Given the description of an element on the screen output the (x, y) to click on. 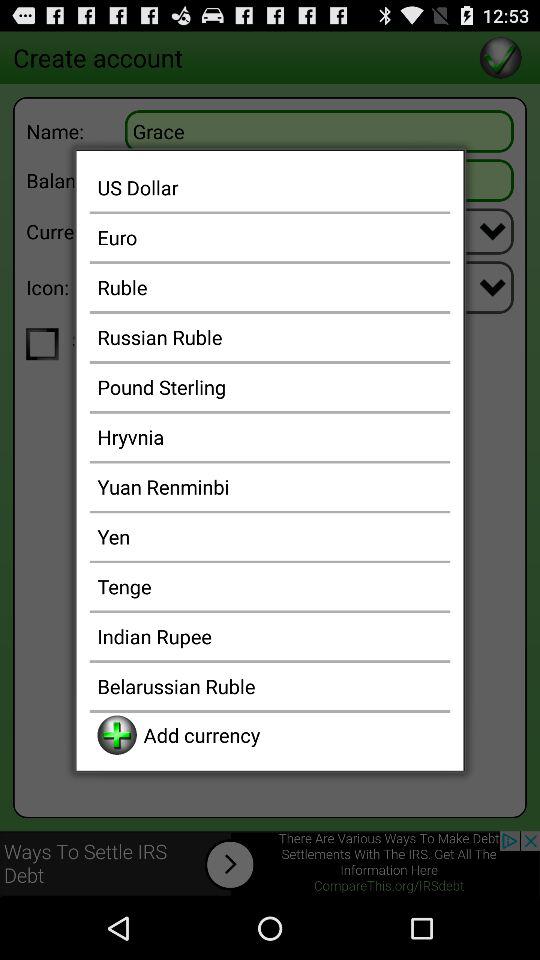
flip until tenge item (269, 586)
